Given the description of an element on the screen output the (x, y) to click on. 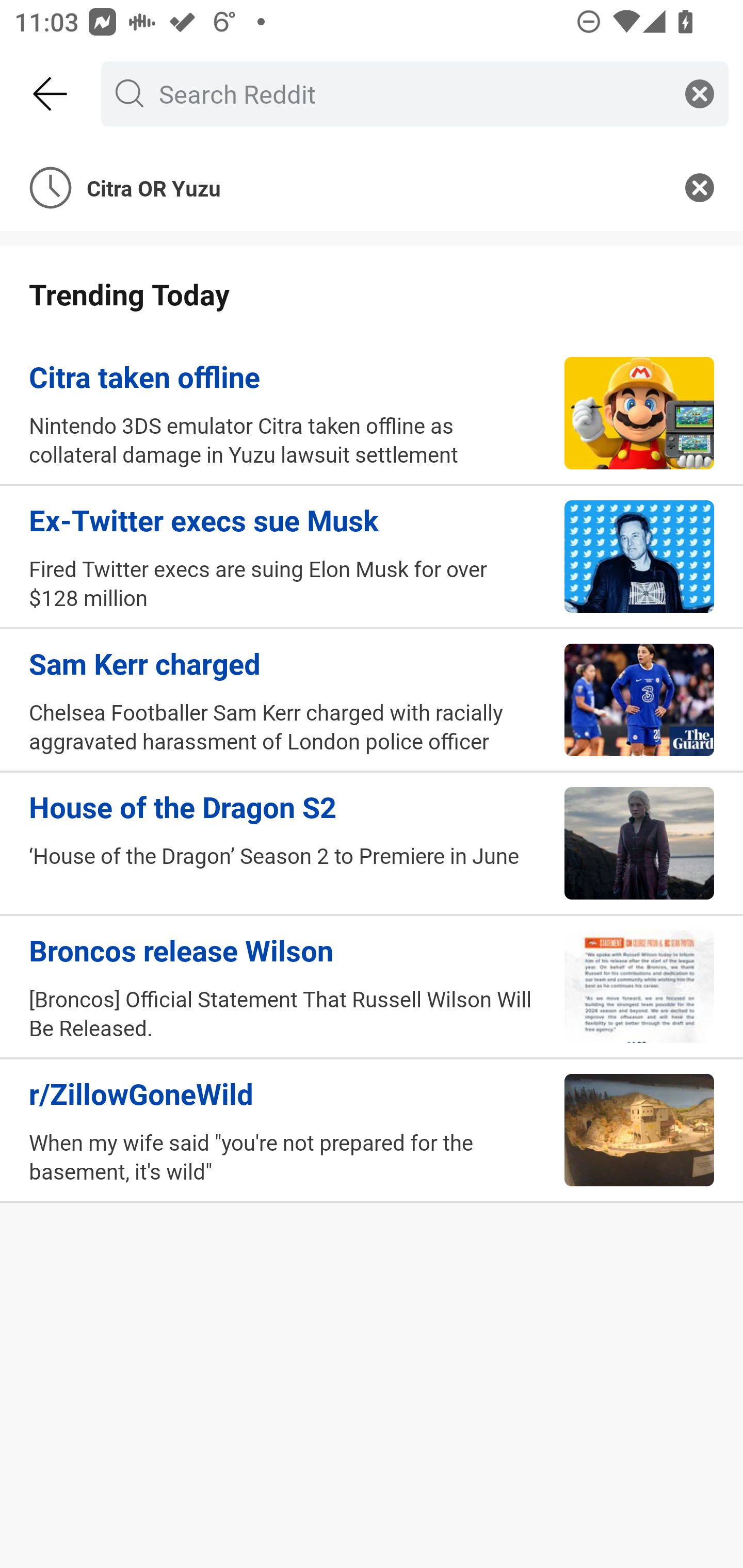
Back (50, 93)
Search Reddit (410, 93)
Clear search (699, 93)
Citra OR Yuzu Recent search: Citra OR Yuzu Remove (371, 187)
Remove (699, 187)
